Given the description of an element on the screen output the (x, y) to click on. 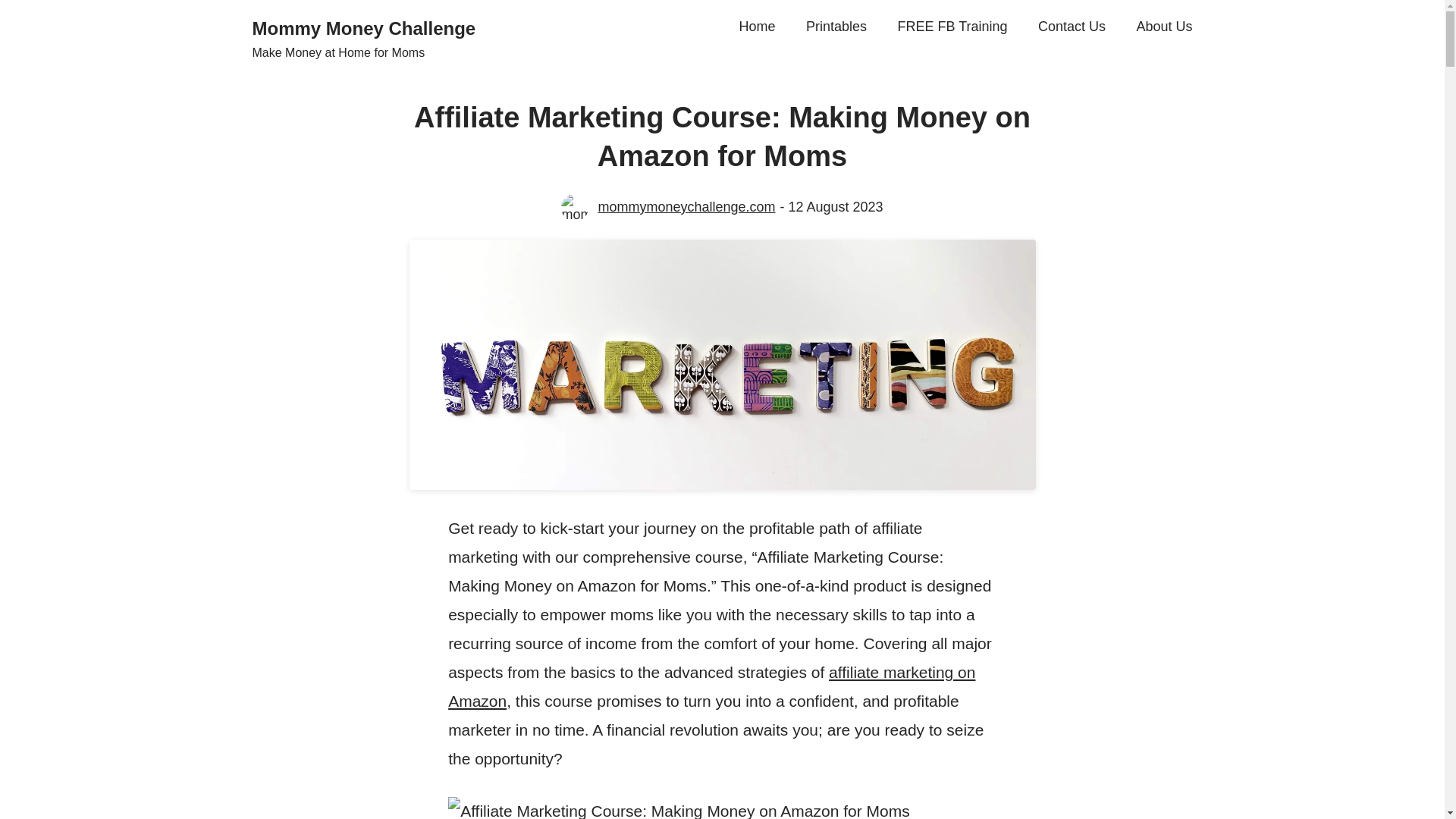
Home (756, 27)
Affiliate Marketing Course: Making Money on Amazon for Moms (679, 807)
Printables (836, 27)
About Us (1163, 27)
mommymoneychallenge.com (685, 208)
FREE FB Training (951, 27)
Contact Us (1071, 27)
affiliate marketing on Amazon (711, 686)
Mommy Money Challenge (363, 28)
